Given the description of an element on the screen output the (x, y) to click on. 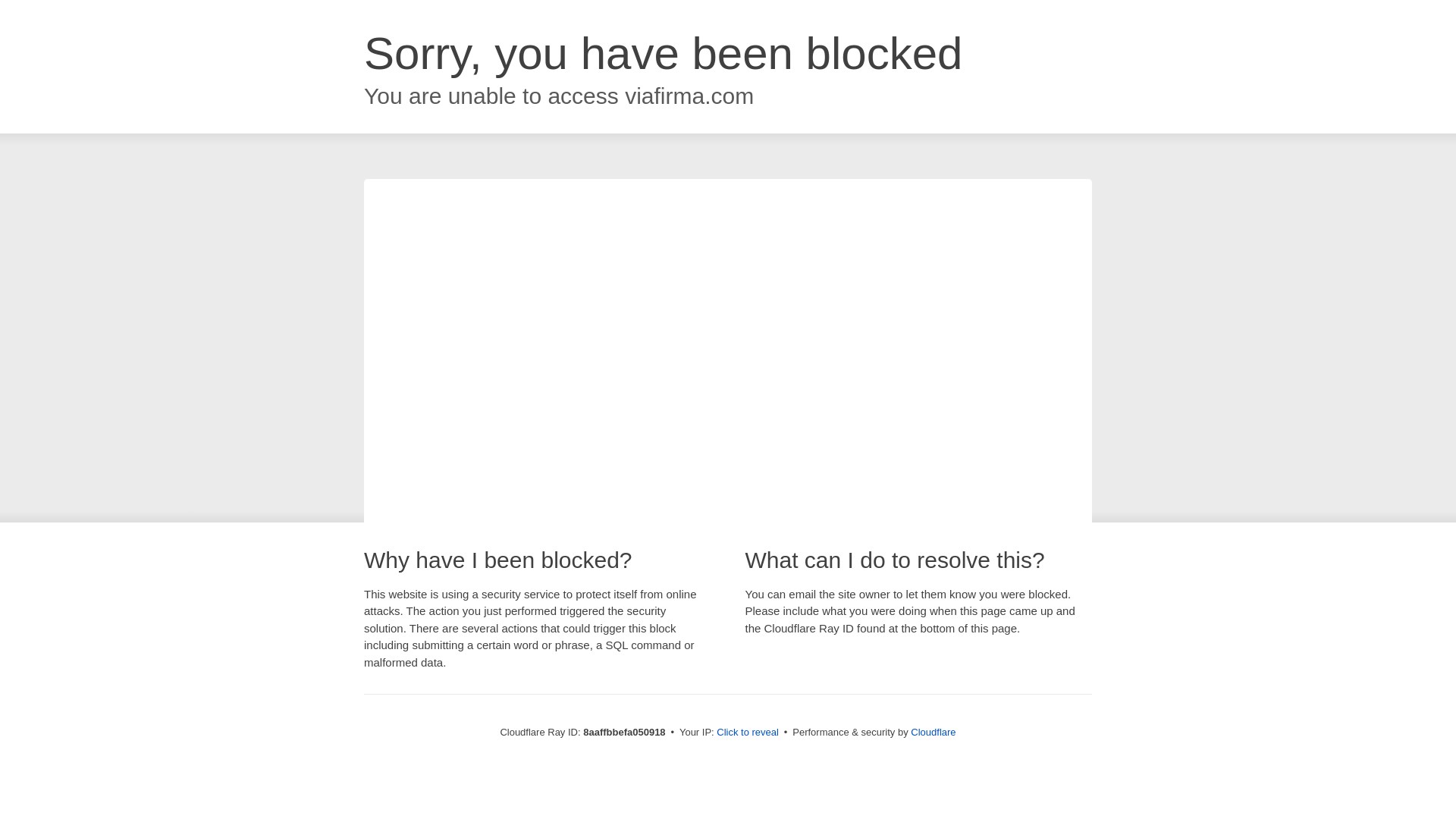
Cloudflare (933, 731)
Click to reveal (747, 732)
